Given the description of an element on the screen output the (x, y) to click on. 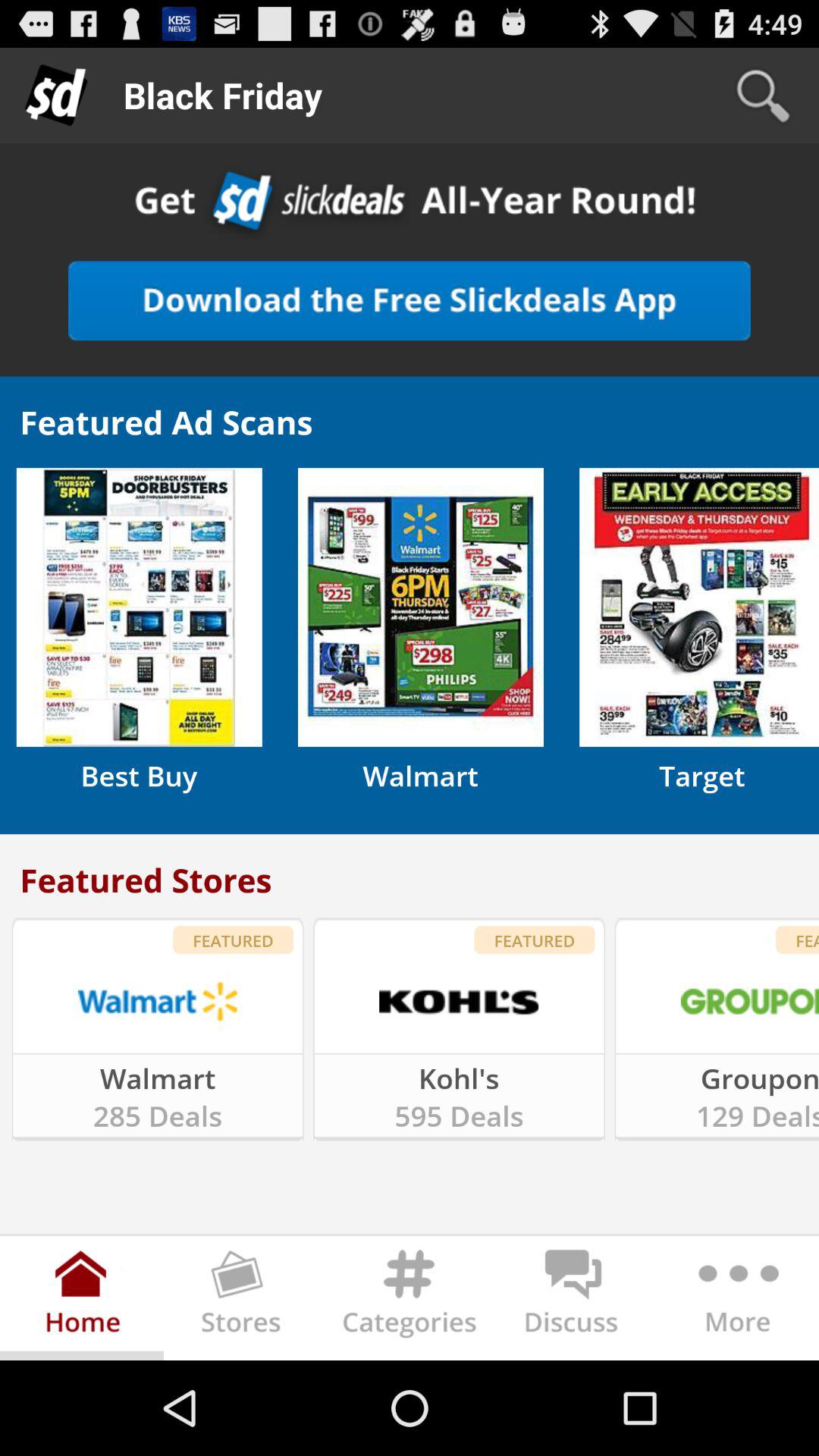
go to stores page (245, 1301)
